Given the description of an element on the screen output the (x, y) to click on. 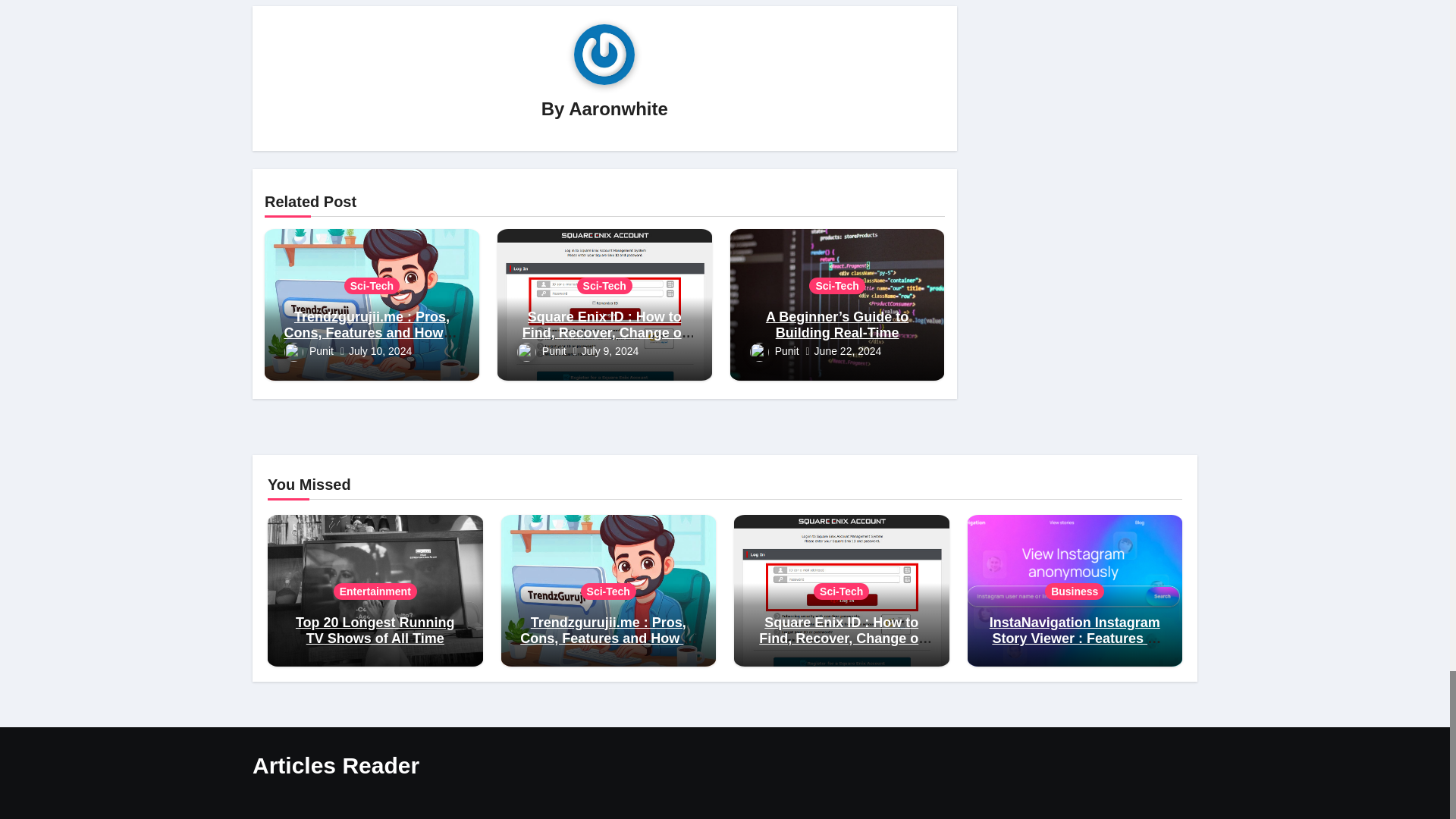
Permalink to: Top 20 Longest Running TV Shows of All Time (374, 631)
